Given the description of an element on the screen output the (x, y) to click on. 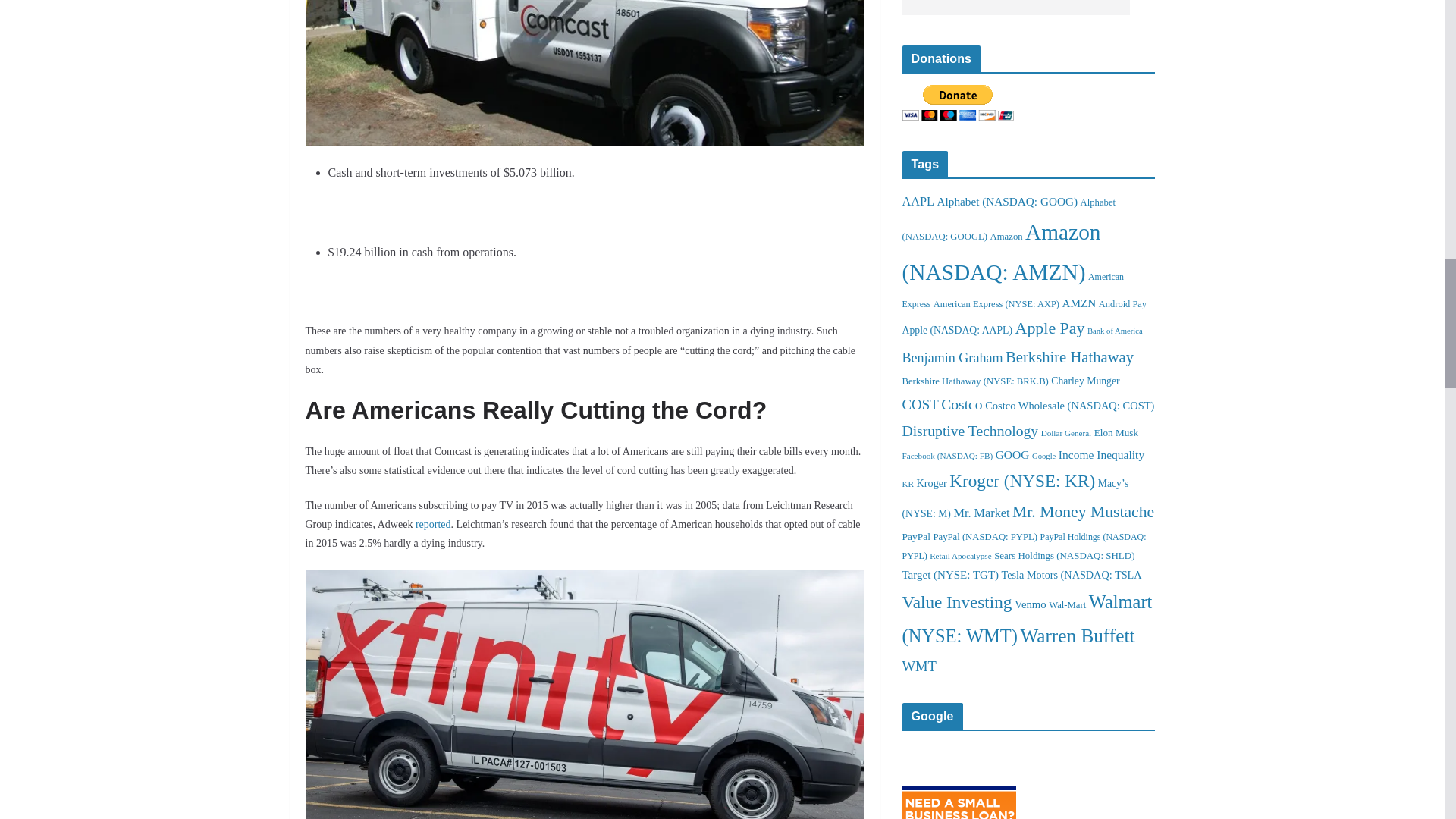
reported (432, 523)
